Given the description of an element on the screen output the (x, y) to click on. 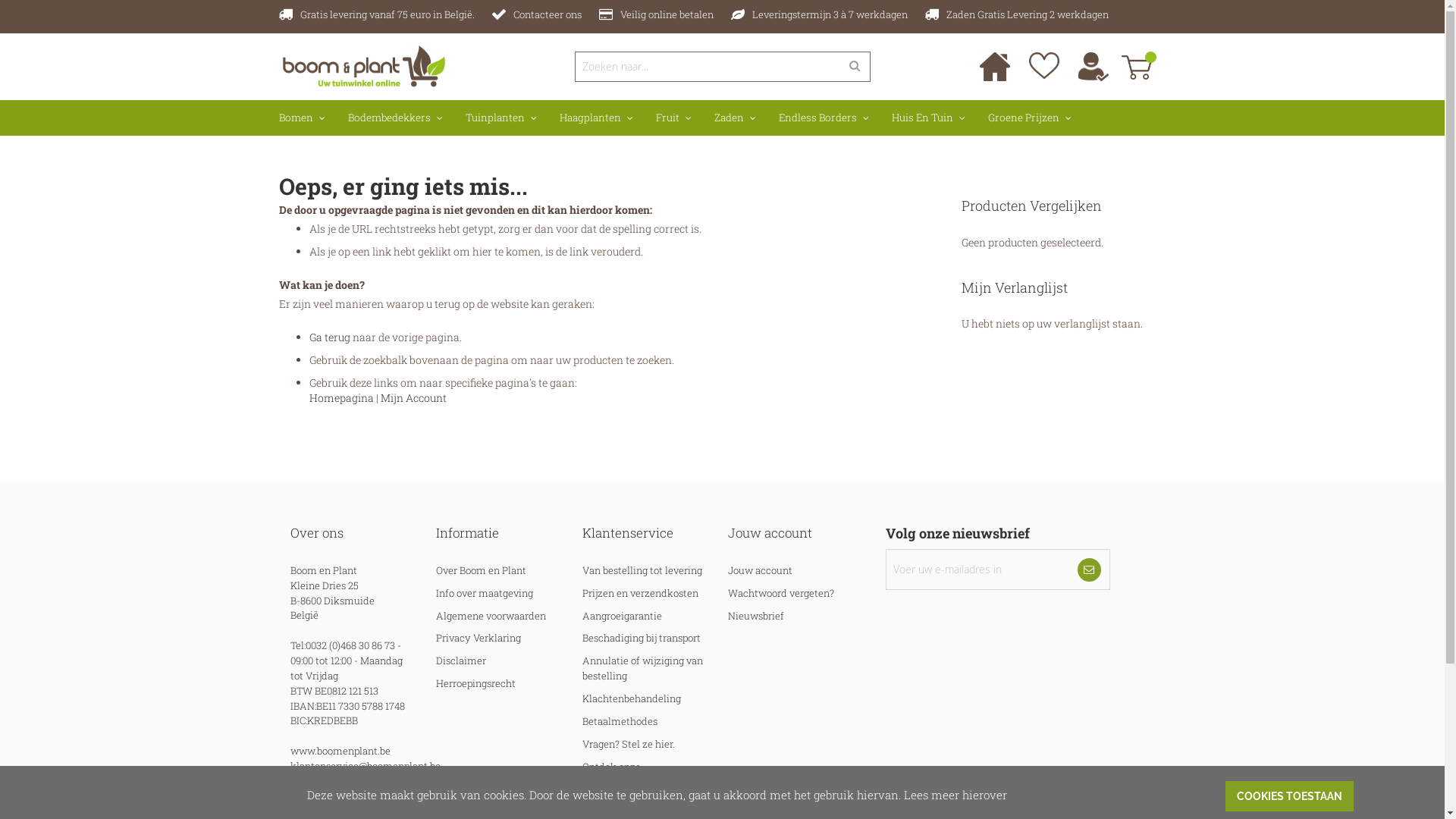
Vragen? Stel ze hier. Element type: text (628, 743)
COOKIES TOESTAAN Element type: text (1289, 796)
Mijn Account Element type: text (413, 397)
Bodembedekkers Element type: text (395, 117)
Jouw account Element type: text (760, 570)
Facebook Element type: text (604, 803)
Privacy Verklaring Element type: text (478, 637)
Van bestelling tot levering Element type: text (642, 570)
www.boomenplant.be Element type: text (339, 750)
Endless Borders Element type: text (823, 117)
Aangroeigarantie Element type: text (622, 615)
Klachtenbehandeling Element type: text (631, 698)
Over Boom en Plant Element type: text (481, 570)
Inschrijven Element type: hover (1088, 569)
klantenservice@boomenplant.be Element type: text (364, 765)
Wachtwoord vergeten? Element type: text (781, 592)
Info over maatgeving  Element type: text (485, 592)
Prijzen en verzendkosten Element type: text (640, 592)
Betaalmethodes Element type: text (619, 721)
Ontdek onze blogberichten Element type: text (613, 773)
Algemene voorwaarden Element type: text (491, 615)
Homepagina Element type: text (341, 397)
Annulatie of wijziging van bestelling Element type: text (642, 667)
Zaden Element type: text (734, 117)
Disclaimer Element type: text (461, 660)
Ga terug Element type: text (329, 336)
Herroepingsrecht Element type: text (475, 683)
Zoek Element type: hover (853, 67)
Beschadiging bij transport Element type: text (641, 637)
Nieuwsbrief Element type: text (756, 615)
Bomen Element type: text (300, 117)
Groene Prijzen Element type: text (1029, 117)
Huis En Tuin Element type: text (927, 117)
Fruit Element type: text (673, 117)
Tuinplanten Element type: text (500, 117)
Contacteer ons Element type: text (546, 14)
Haagplanten Element type: text (595, 117)
Lees meer hierover Element type: text (955, 793)
